Given the description of an element on the screen output the (x, y) to click on. 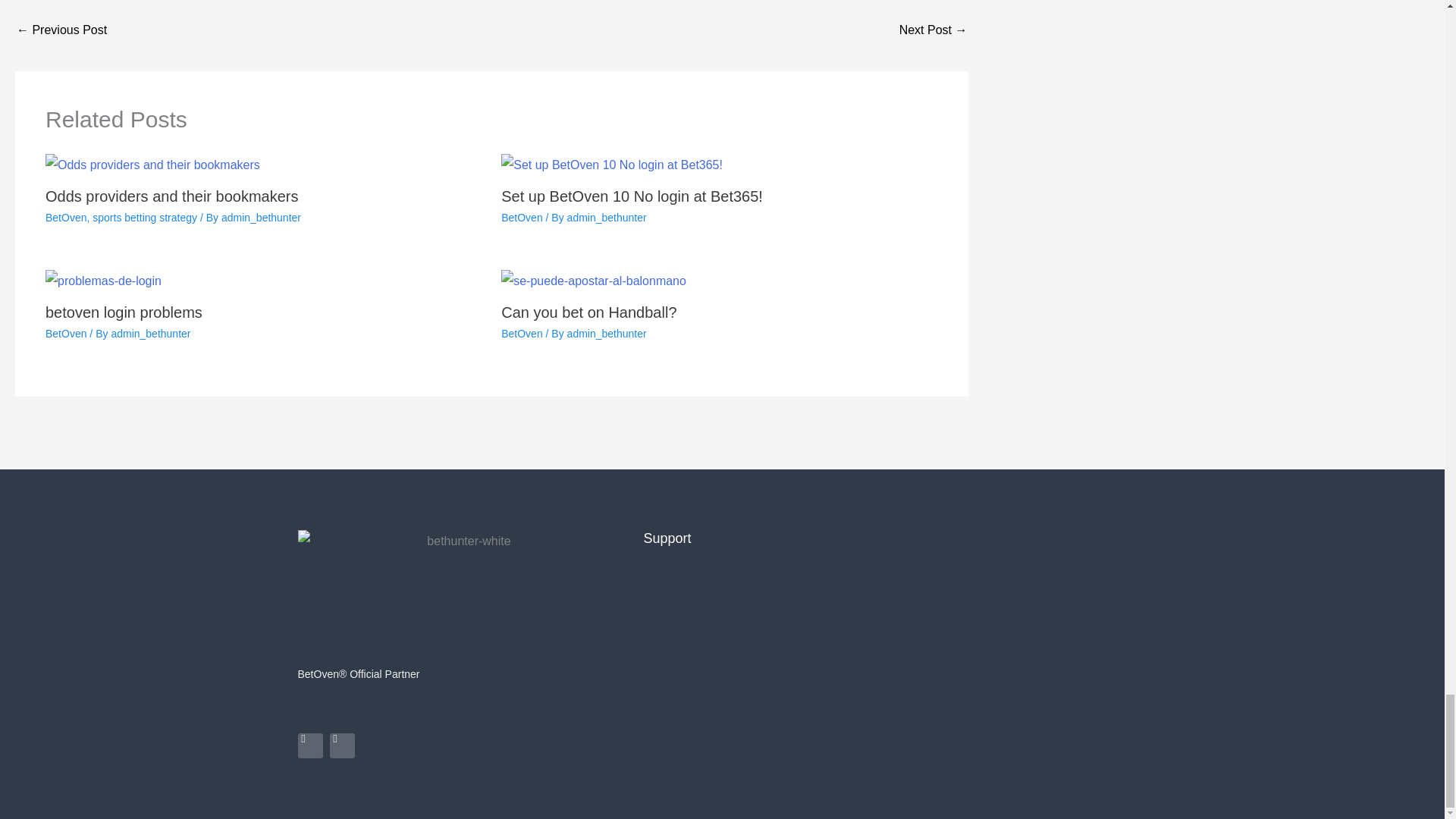
sports betting strategy (144, 217)
BetOven (65, 217)
Odds providers and their bookmakers (171, 196)
